Given the description of an element on the screen output the (x, y) to click on. 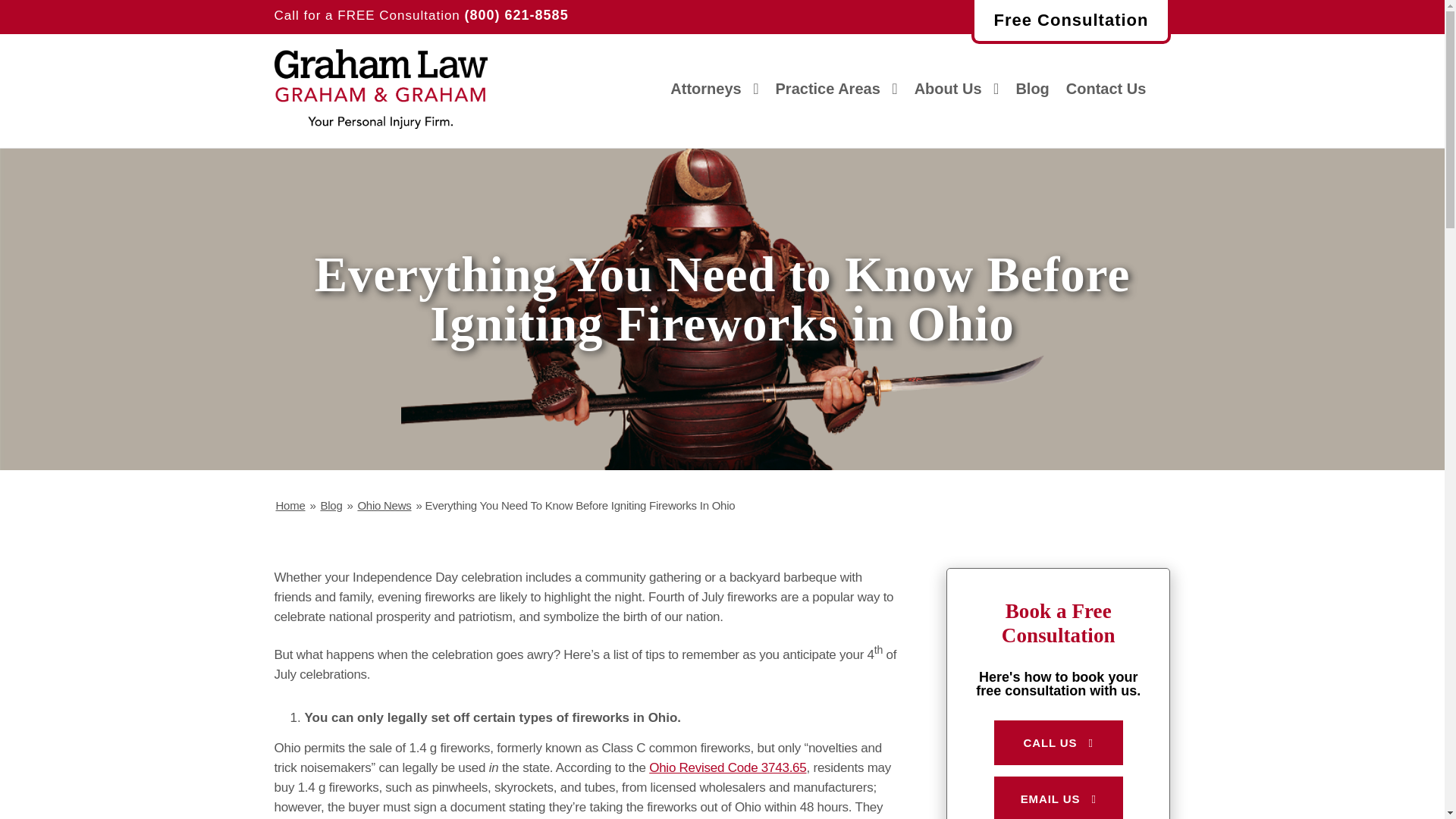
Attorneys (713, 88)
Practice Areas (837, 88)
Free Consultation (1070, 22)
